Given the description of an element on the screen output the (x, y) to click on. 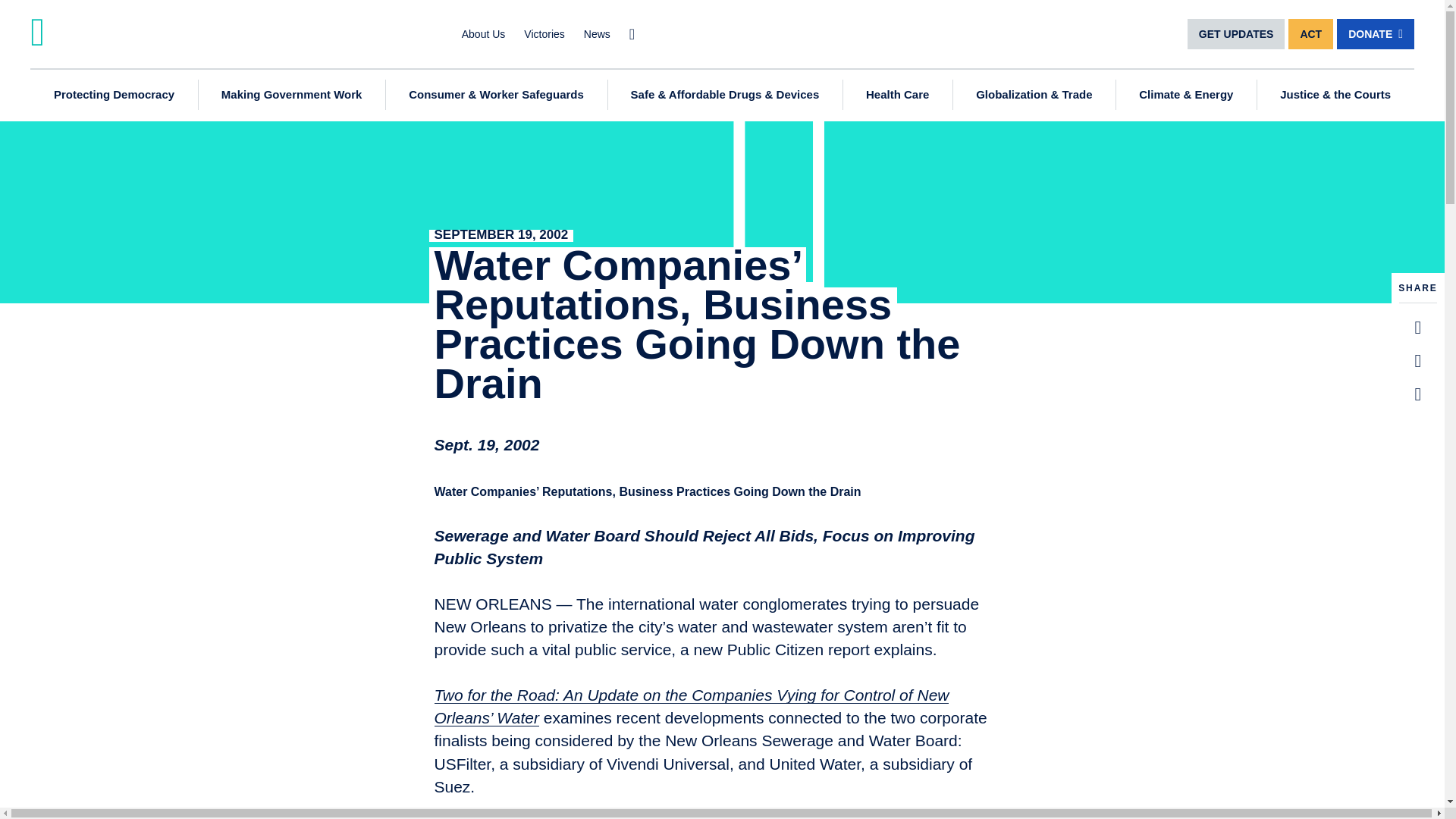
Protecting Democracy (114, 94)
Making Government Work (291, 94)
Health Care (897, 94)
News (596, 33)
ACT (1310, 33)
GET UPDATES (1236, 33)
About Us (483, 33)
DONATE (1374, 33)
Victories (544, 33)
